Given the description of an element on the screen output the (x, y) to click on. 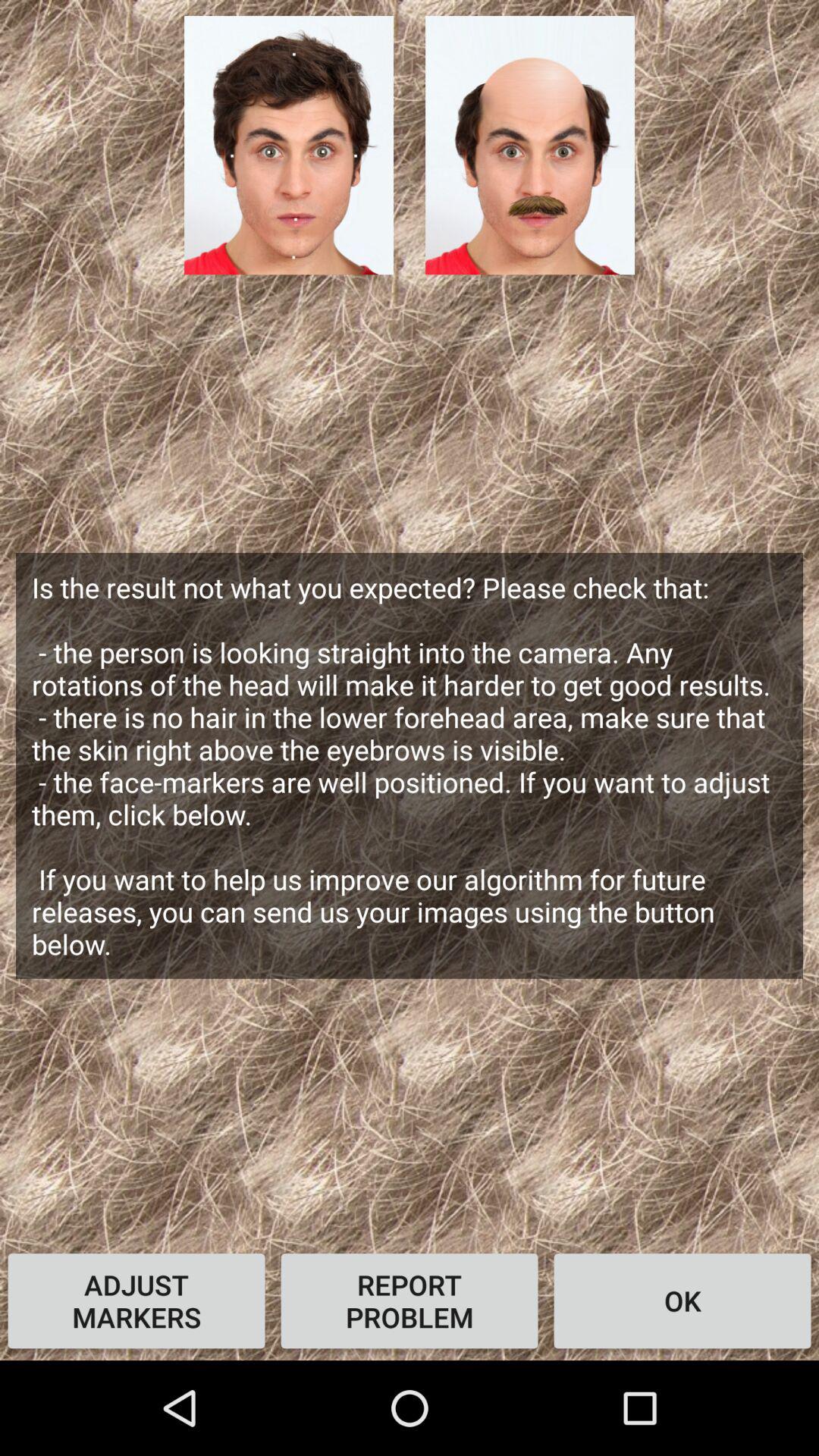
launch the icon at the bottom right corner (682, 1300)
